Given the description of an element on the screen output the (x, y) to click on. 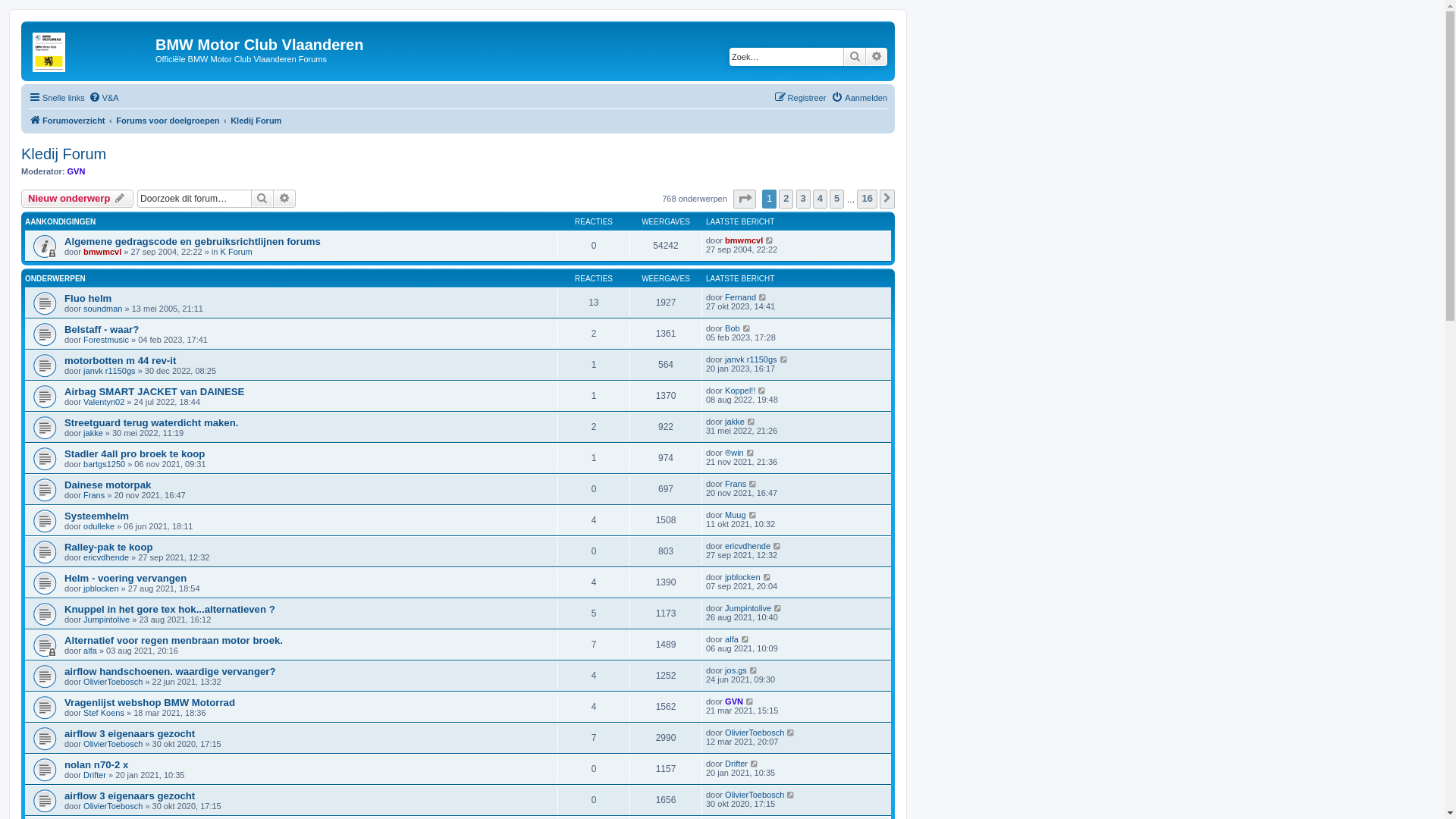
Systeemhelm Element type: text (96, 515)
Ga naar laatste bericht Element type: hover (750, 701)
Ga naar laatste bericht Element type: hover (767, 576)
2 Element type: text (785, 198)
Frans Element type: text (735, 483)
Ga naar laatste bericht Element type: hover (751, 421)
odulleke Element type: text (98, 525)
Ga naar laatste bericht Element type: hover (753, 483)
bartgs1250 Element type: text (104, 463)
Ga naar laatste bericht Element type: hover (763, 296)
Volgende Element type: text (886, 198)
OlivierToebosch Element type: text (112, 681)
Ga naar laatste bericht Element type: hover (778, 607)
Zoek Element type: text (854, 56)
Ga naar laatste bericht Element type: hover (745, 638)
jakke Element type: text (93, 432)
ericvdhende Element type: text (747, 545)
Airbag SMART JACKET van DAINESE Element type: text (154, 391)
Muug Element type: text (735, 514)
Bob Element type: text (732, 327)
Ga naar laatste bericht Element type: hover (747, 327)
Belstaff - waar? Element type: text (101, 329)
OlivierToebosch Element type: text (754, 732)
Streetguard terug waterdicht maken. Element type: text (151, 422)
V&A Element type: text (103, 97)
ericvdhende Element type: text (105, 556)
GVN Element type: text (733, 701)
Knuppel in het gore tex hok...alternatieven ? Element type: text (169, 609)
Jumpintolive Element type: text (106, 619)
Ralley-pak te koop Element type: text (108, 546)
Ga naar laatste bericht Element type: hover (791, 732)
motorbotten m 44 rev-it Element type: text (119, 360)
Nieuw onderwerp Element type: text (77, 198)
Fluo helm Element type: text (87, 298)
Forestmusic Element type: text (105, 339)
jakke Element type: text (734, 421)
Koppel!! Element type: text (739, 390)
Ga naar laatste bericht Element type: hover (754, 669)
OlivierToebosch Element type: text (754, 794)
Drifter Element type: text (94, 774)
Vragenlijst webshop BMW Motorrad Element type: text (149, 702)
Stadler 4all pro broek te koop Element type: text (134, 453)
nolan n70-2 x Element type: text (96, 764)
OlivierToebosch Element type: text (112, 743)
alfa Element type: text (90, 650)
jos.gs Element type: text (735, 669)
Frans Element type: text (93, 494)
Stef Koens Element type: text (103, 712)
airflow handschoenen. waardige vervanger? Element type: text (169, 671)
3 Element type: text (803, 198)
Ga naar laatste bericht Element type: hover (753, 514)
Zoek op sleutelwoorden Element type: hover (786, 56)
Forumoverzicht Element type: hover (90, 49)
Alternatief voor regen menbraan motor broek. Element type: text (173, 640)
Helm - voering vervangen Element type: text (125, 577)
GVN Element type: text (76, 170)
Zoek Element type: text (262, 198)
airflow 3 eigenaars gezocht Element type: text (129, 795)
OlivierToebosch Element type: text (112, 805)
Pagina van Element type: text (744, 198)
Fernand Element type: text (740, 296)
janvk r1150gs Element type: text (109, 370)
Kledij Forum Element type: text (63, 154)
Ga naar laatste bericht Element type: hover (777, 545)
Jumpintolive Element type: text (747, 607)
Dainese motorpak Element type: text (107, 484)
jpblocken Element type: text (100, 588)
Ga naar laatste bericht Element type: hover (791, 794)
Ga naar laatste bericht Element type: hover (763, 390)
Registreer Element type: text (800, 97)
bmwmcvl Element type: text (102, 251)
Ga naar laatste bericht Element type: hover (754, 763)
Ga naar laatste bericht Element type: hover (770, 239)
Algemene gedragscode en gebruiksrichtlijnen forums Element type: text (192, 241)
Kledij Forum Element type: text (255, 120)
Ga naar laatste bericht Element type: hover (784, 359)
jpblocken Element type: text (741, 576)
K Forum Element type: text (236, 251)
soundman Element type: text (102, 308)
janvk r1150gs Element type: text (750, 359)
Uitgebreid zoeken Element type: text (876, 56)
Drifter Element type: text (735, 763)
4 Element type: text (819, 198)
Ga naar laatste bericht Element type: hover (751, 452)
alfa Element type: text (731, 638)
Forumoverzicht Element type: text (66, 120)
Snelle links Element type: text (56, 97)
airflow 3 eigenaars gezocht Element type: text (129, 733)
Forums voor doelgroepen Element type: text (167, 120)
bmwmcvl Element type: text (743, 239)
5 Element type: text (836, 198)
16 Element type: text (866, 198)
Uitgebreid zoeken Element type: text (284, 198)
Aanmelden Element type: text (859, 97)
Valentyn02 Element type: text (103, 401)
